Given the description of an element on the screen output the (x, y) to click on. 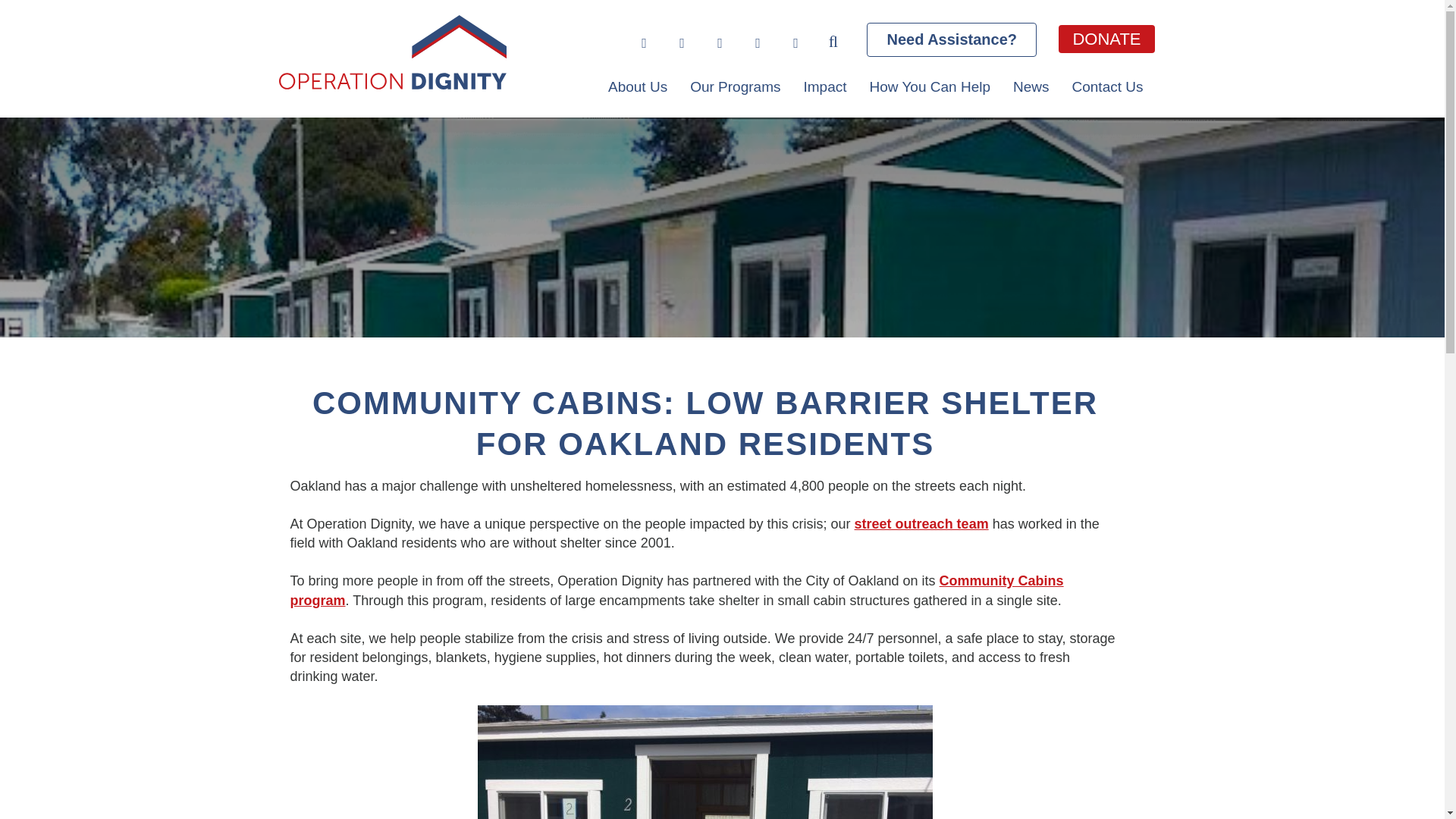
News (1031, 86)
Community Cabins program (675, 590)
Contact Us (1107, 86)
About Us (637, 86)
Need Assistance? (951, 39)
Our Programs (735, 86)
Our Programs (735, 86)
How You Can Help (931, 86)
About Us (637, 86)
Impact (824, 86)
street outreach team (921, 523)
How You Can Help (931, 86)
Impact (824, 86)
DONATE (1106, 39)
